Given the description of an element on the screen output the (x, y) to click on. 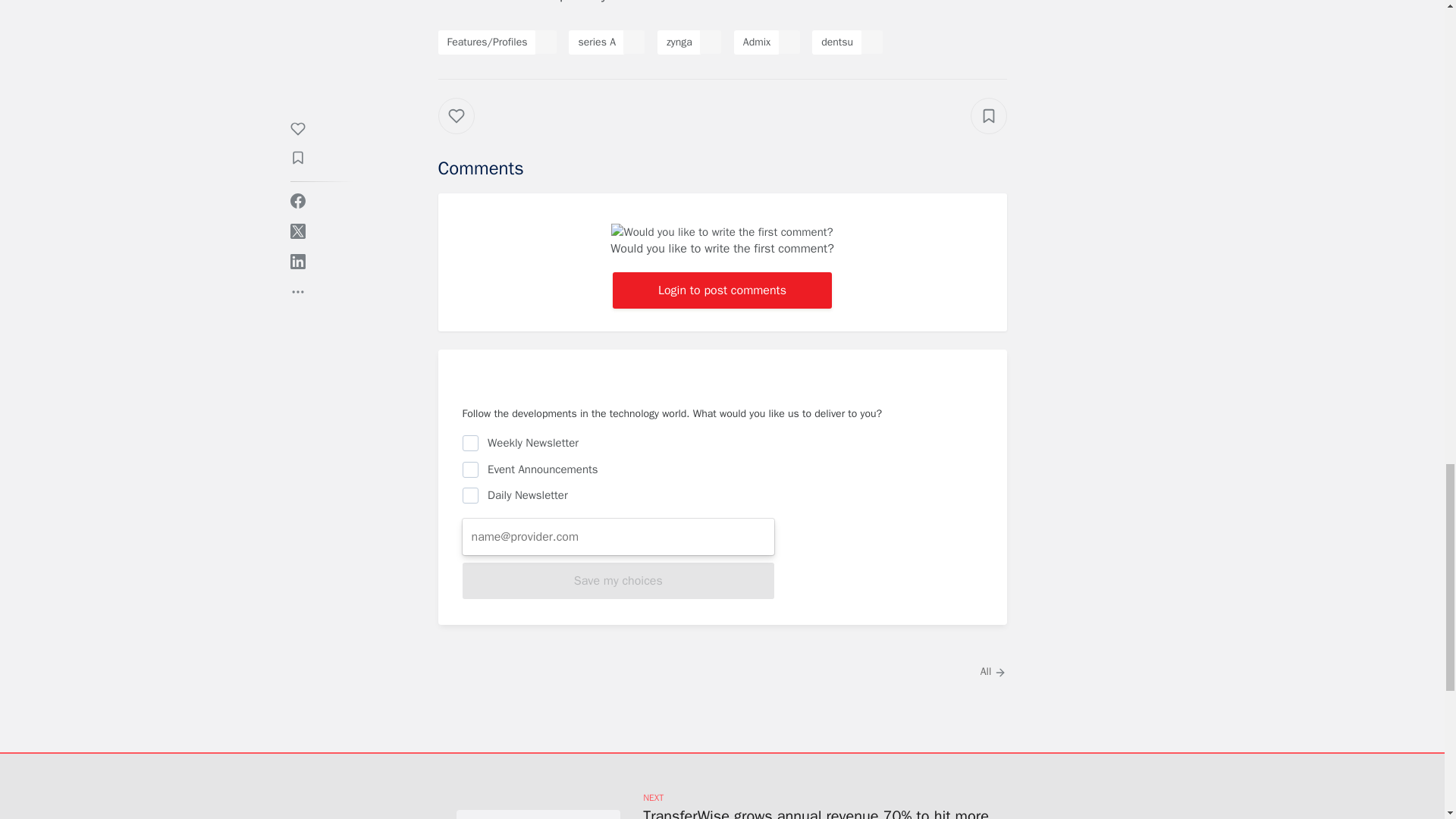
series A (596, 42)
dentsu (836, 42)
Admix (755, 42)
Add to collection (989, 115)
Like (467, 130)
zynga (679, 42)
